Given the description of an element on the screen output the (x, y) to click on. 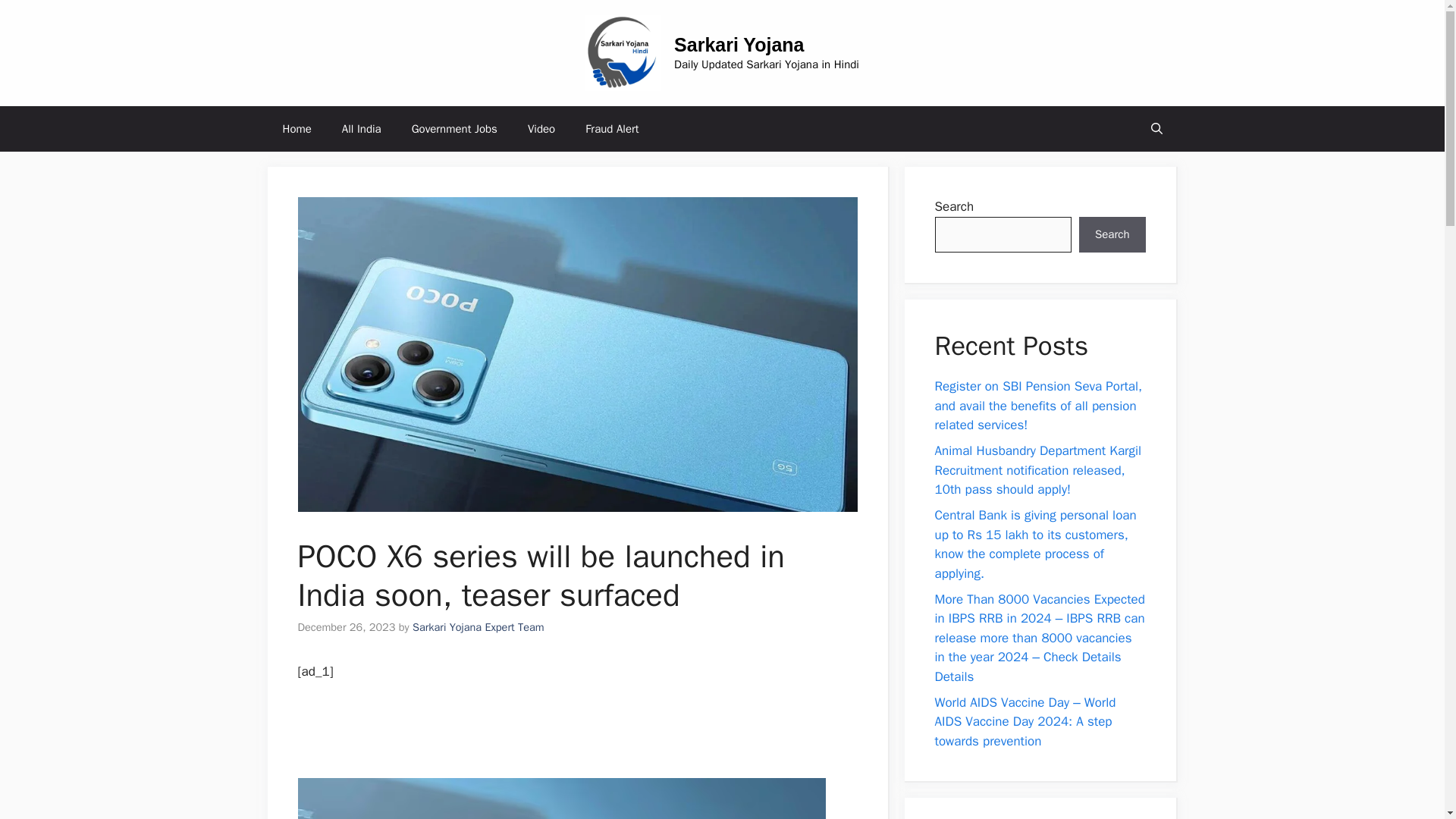
All India (361, 128)
Home (296, 128)
Government Jobs (454, 128)
View all posts by Sarkari Yojana Expert Team (478, 626)
Sarkari Yojana (738, 44)
Sarkari Yojana Expert Team (478, 626)
Video (541, 128)
Fraud Alert (611, 128)
